Given the description of an element on the screen output the (x, y) to click on. 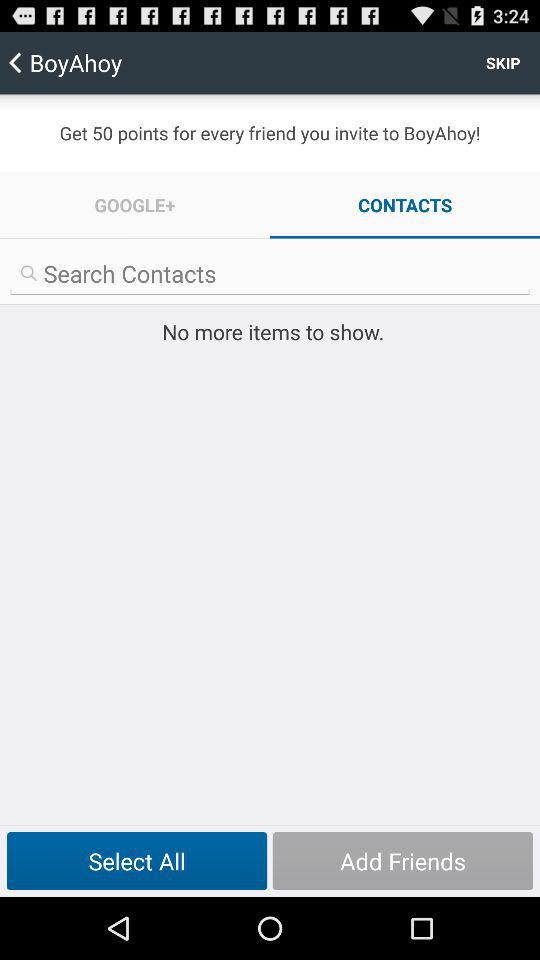
turn off the button next to select all button (402, 861)
